Given the description of an element on the screen output the (x, y) to click on. 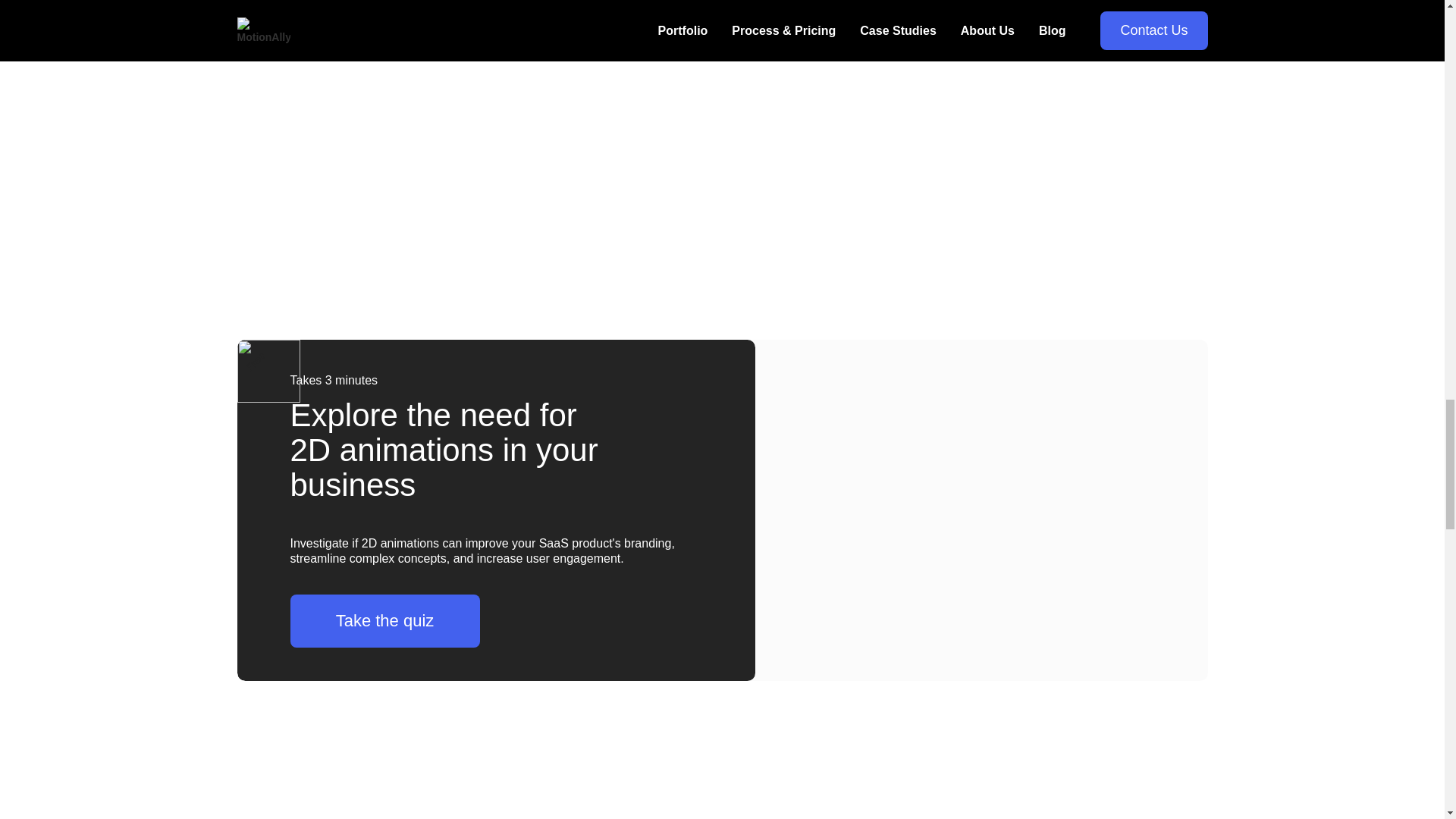
Take the quiz (384, 620)
